Given the description of an element on the screen output the (x, y) to click on. 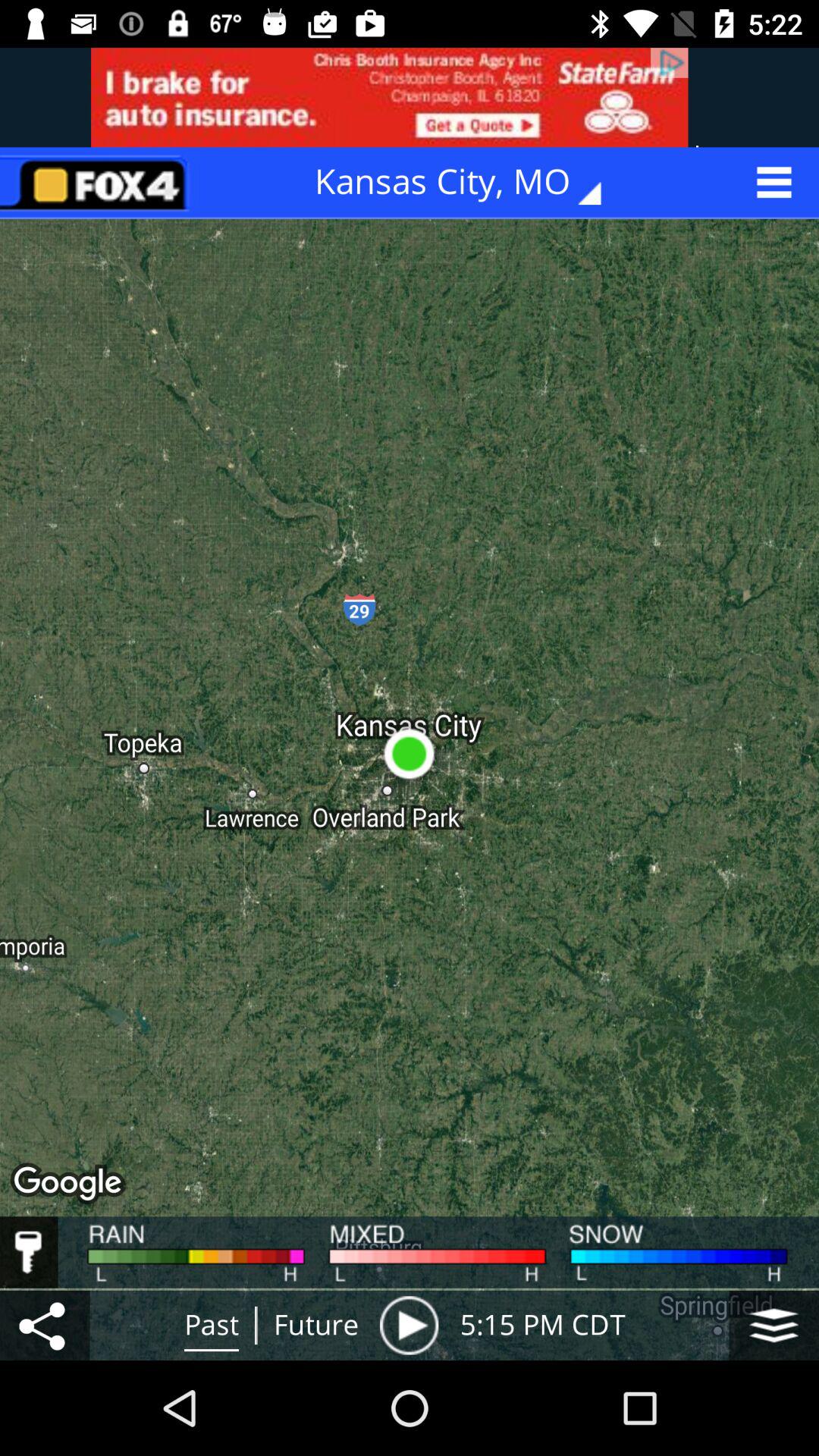
driving conditions (29, 1252)
